Given the description of an element on the screen output the (x, y) to click on. 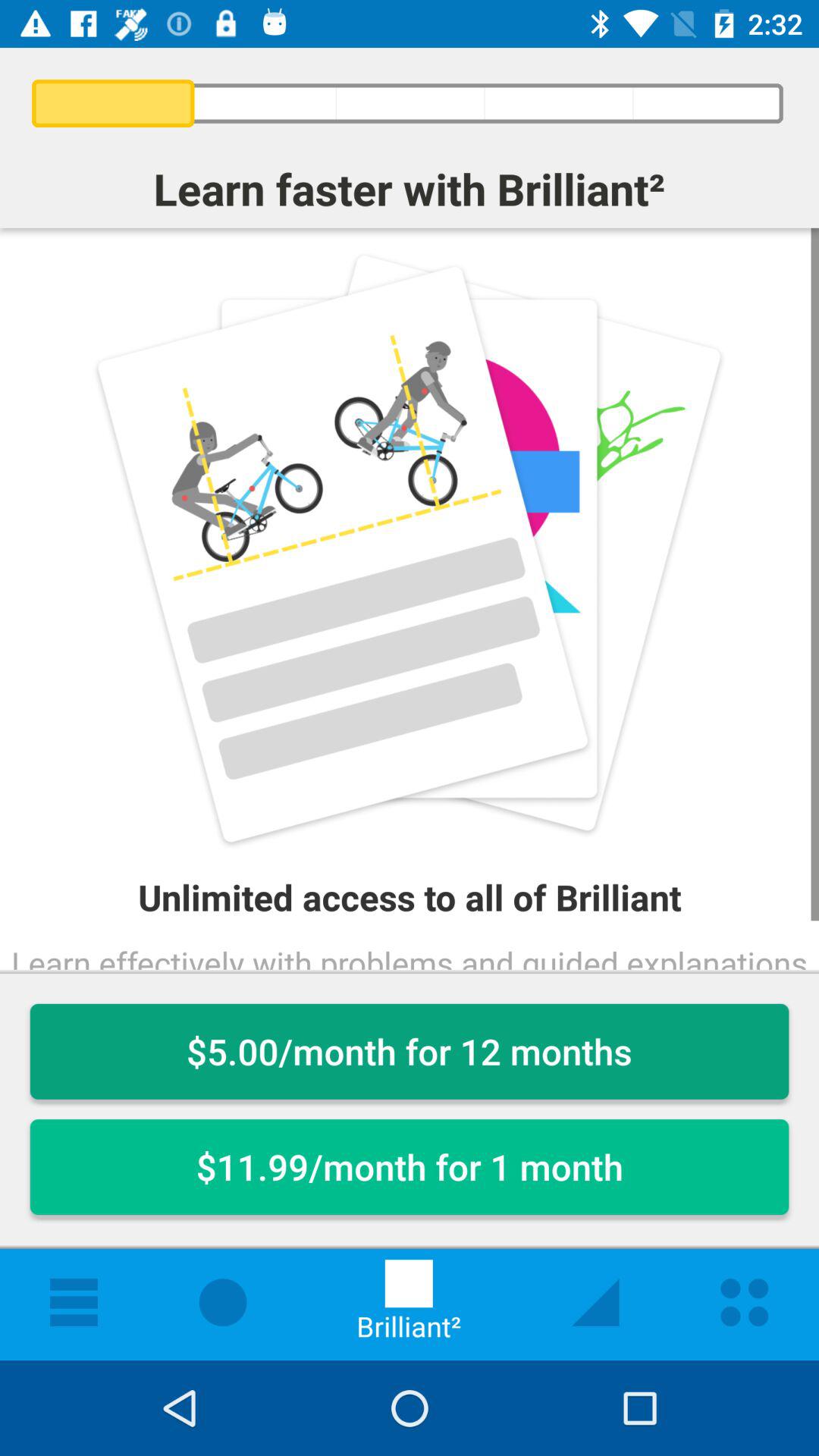
select the icon beside brilliant 2 (595, 1302)
select the first icon from the right (744, 1302)
click on the image at left corner of the bottom left to blue circle (73, 1302)
click on the second option (409, 1166)
